Given the description of an element on the screen output the (x, y) to click on. 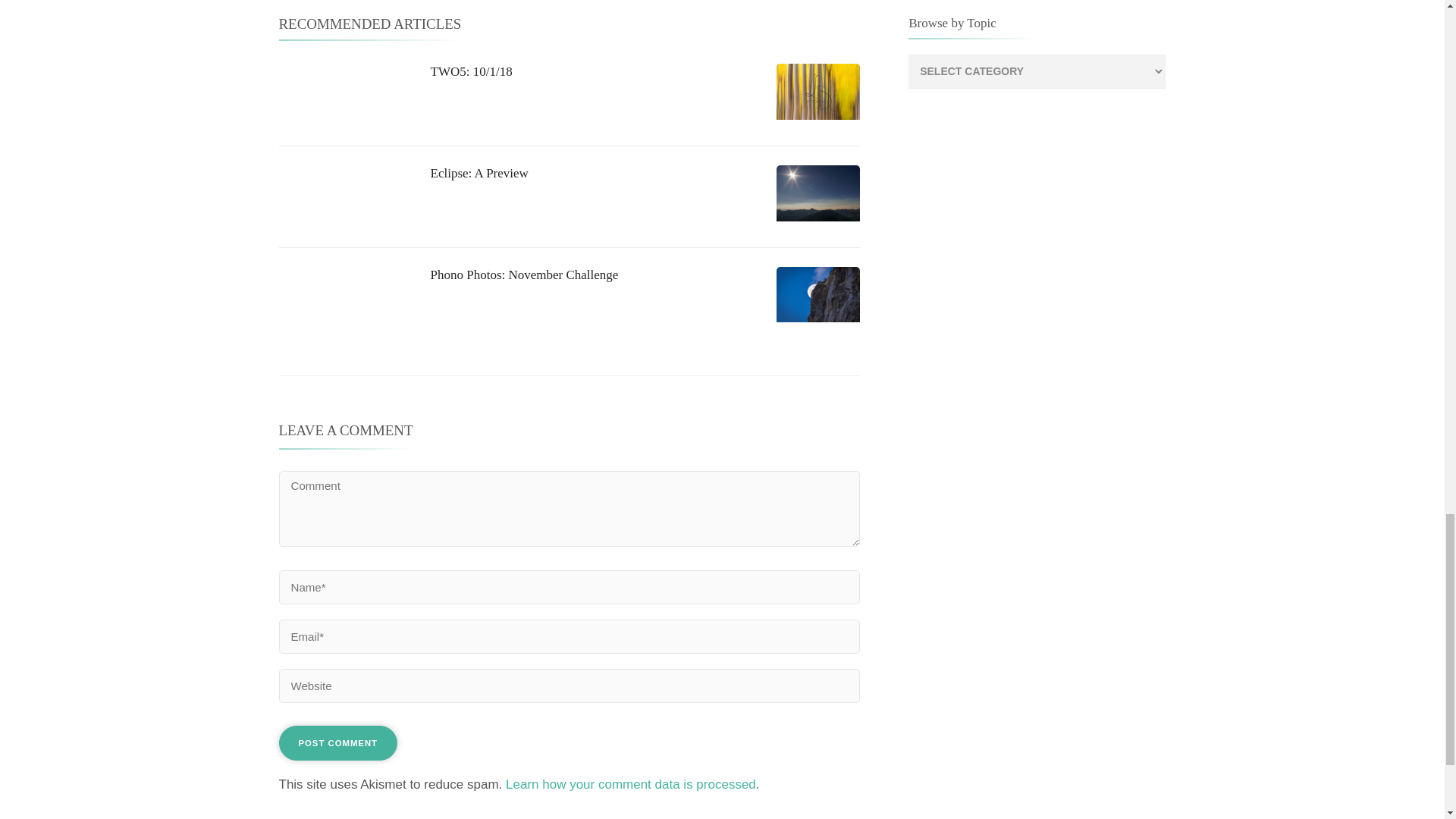
Post Comment (338, 742)
